Given the description of an element on the screen output the (x, y) to click on. 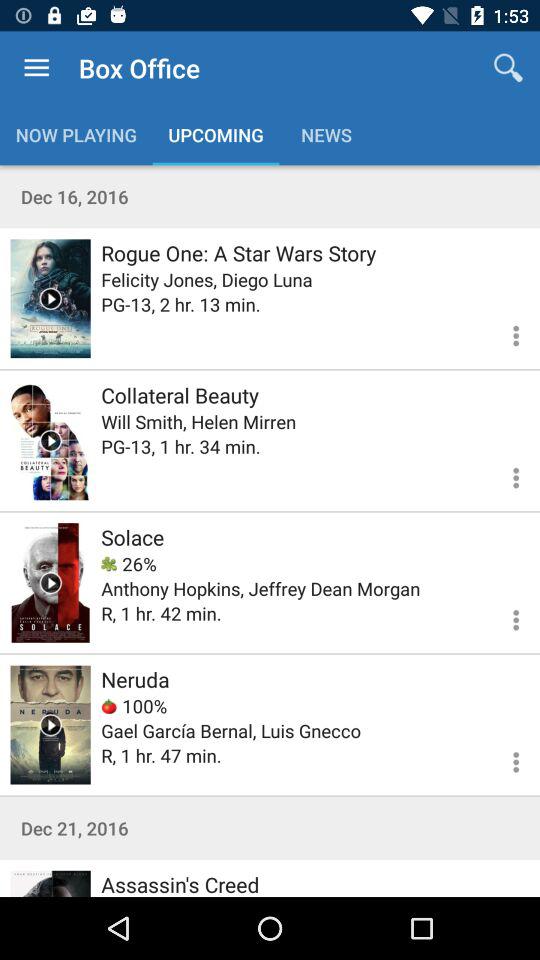
swipe to neruda icon (135, 679)
